Given the description of an element on the screen output the (x, y) to click on. 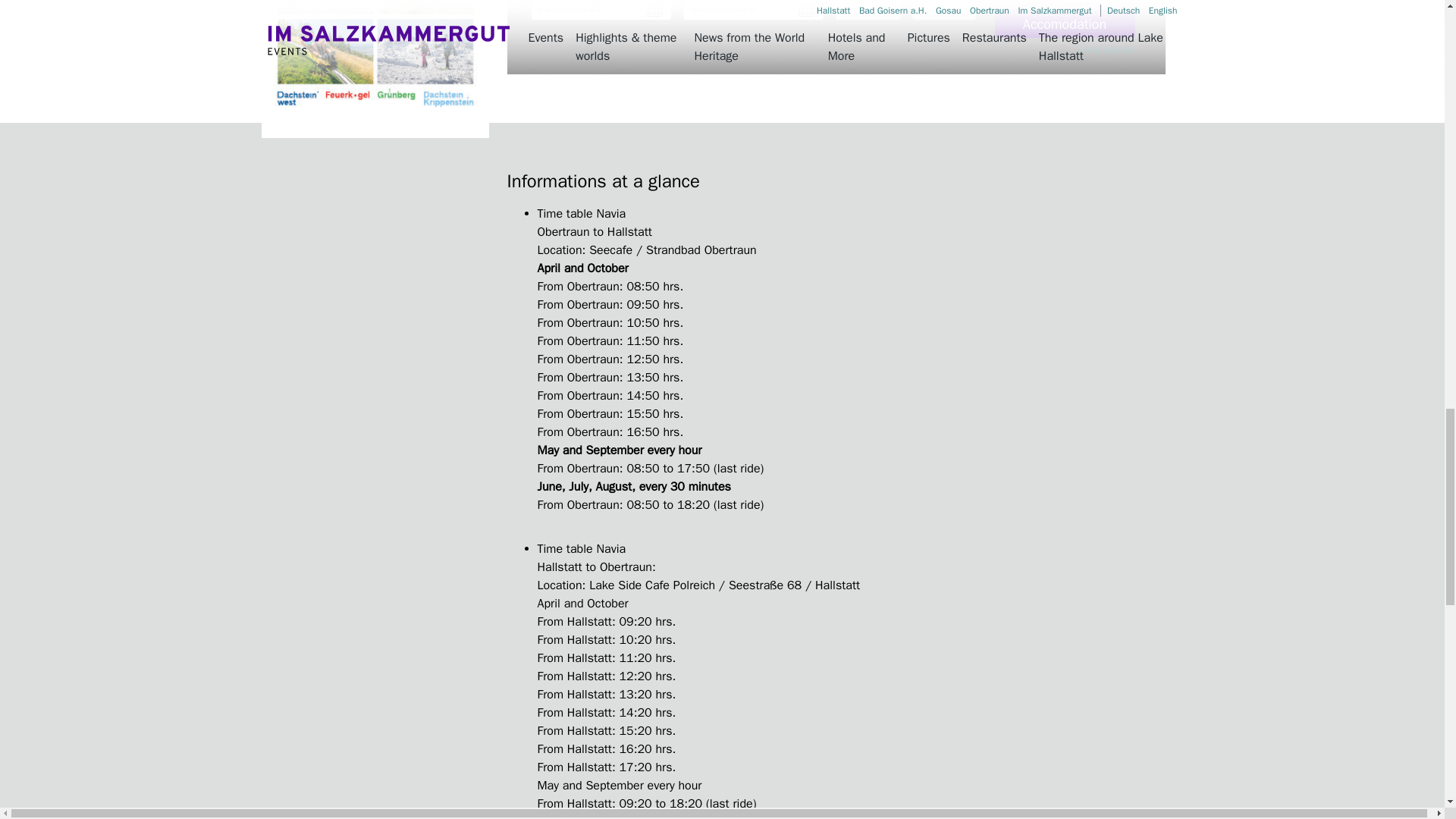
13.10.2021 (753, 9)
13.10.2021 (753, 9)
11.10.2021 (601, 9)
11.10.2021 (601, 9)
